Given the description of an element on the screen output the (x, y) to click on. 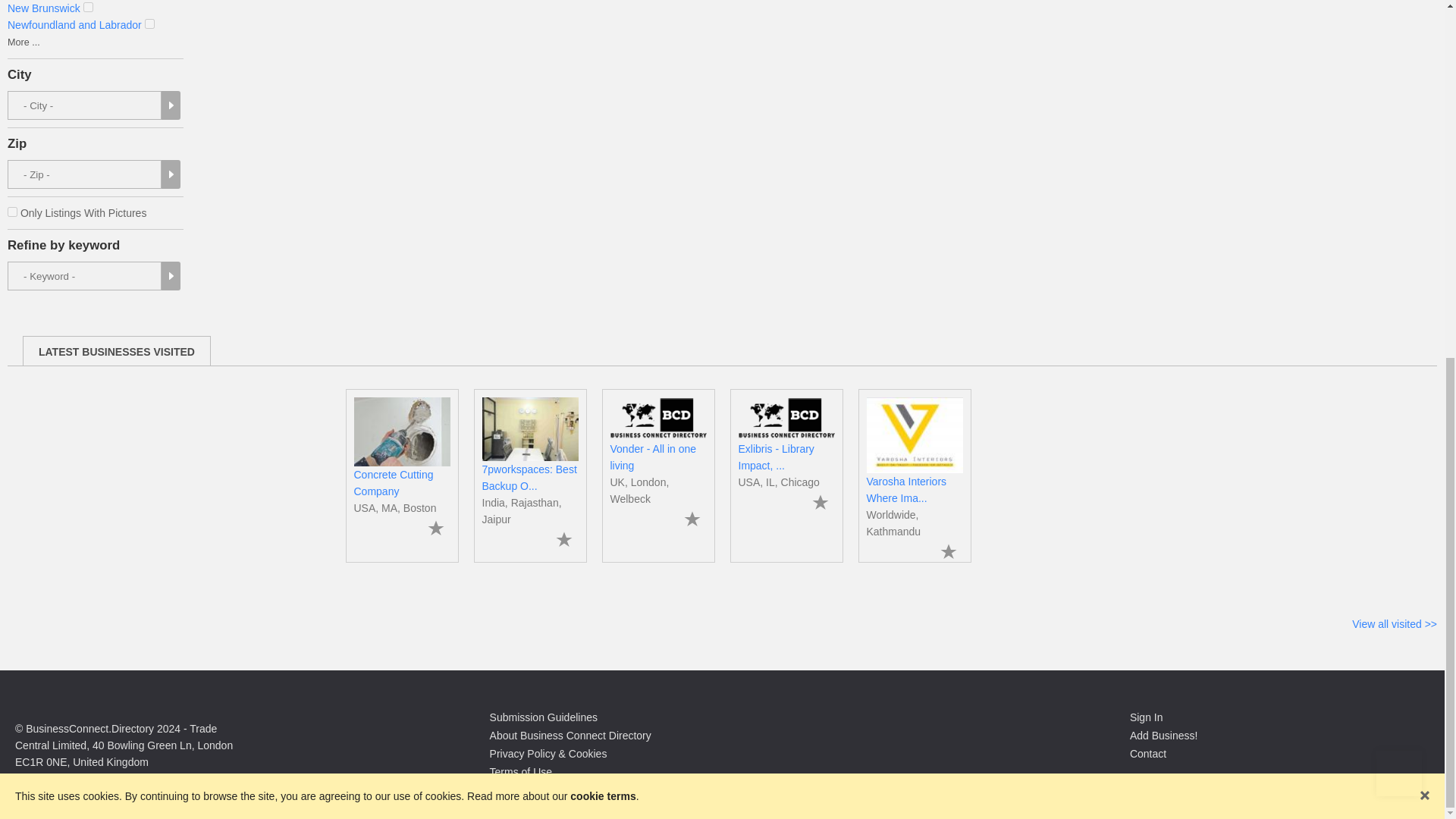
Add to favorites (692, 518)
on (149, 23)
Add to favorites (563, 539)
on (12, 212)
Add to favorites (436, 527)
on (87, 7)
Add to favorites (819, 501)
Add to favorites (948, 550)
